Given the description of an element on the screen output the (x, y) to click on. 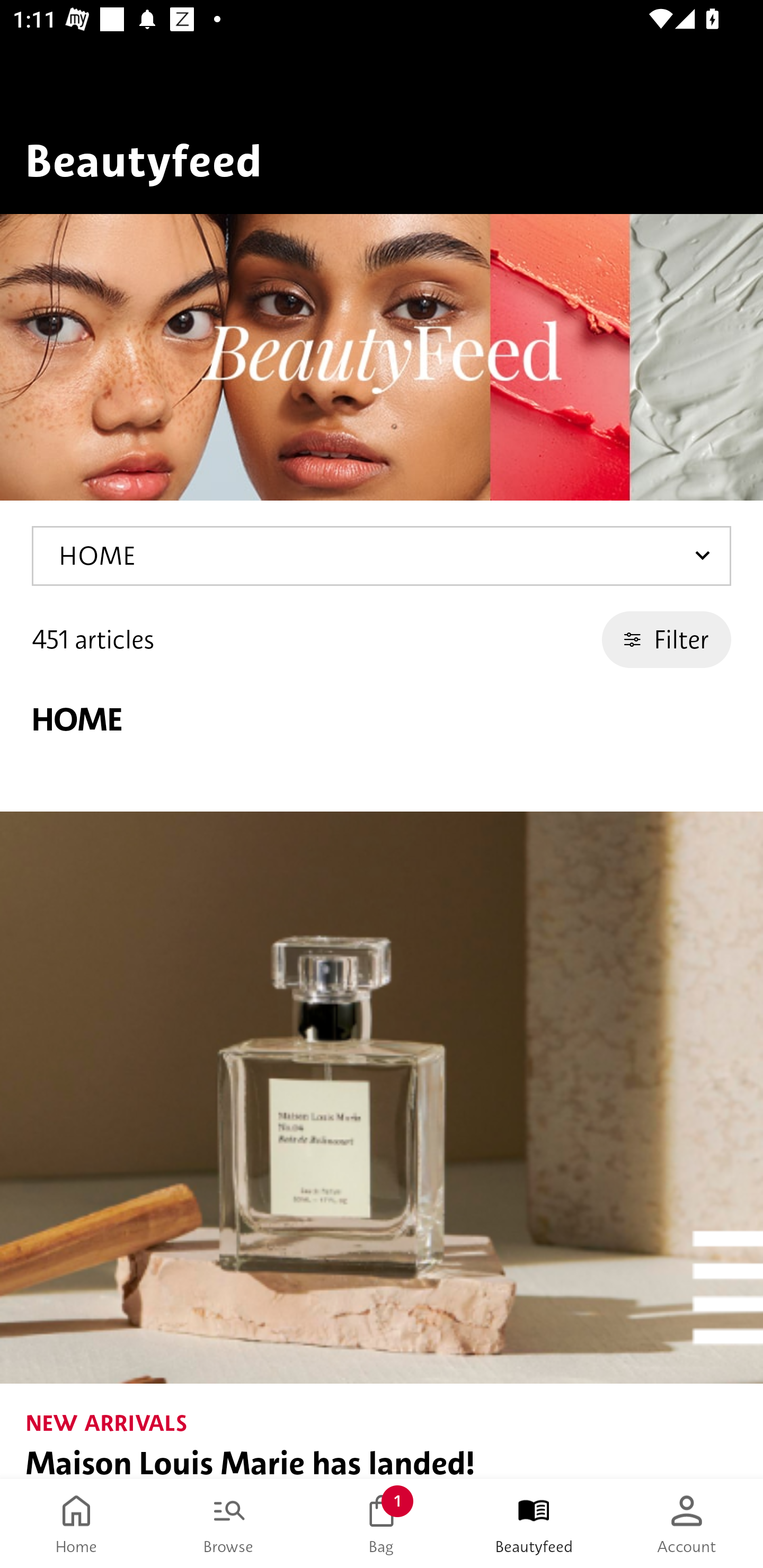
HOME (381, 555)
Filter (666, 639)
NEW ARRIVALS Maison Louis Marie has landed! (381, 1145)
Home (76, 1523)
Browse (228, 1523)
Bag 1 Bag (381, 1523)
Account (686, 1523)
